Given the description of an element on the screen output the (x, y) to click on. 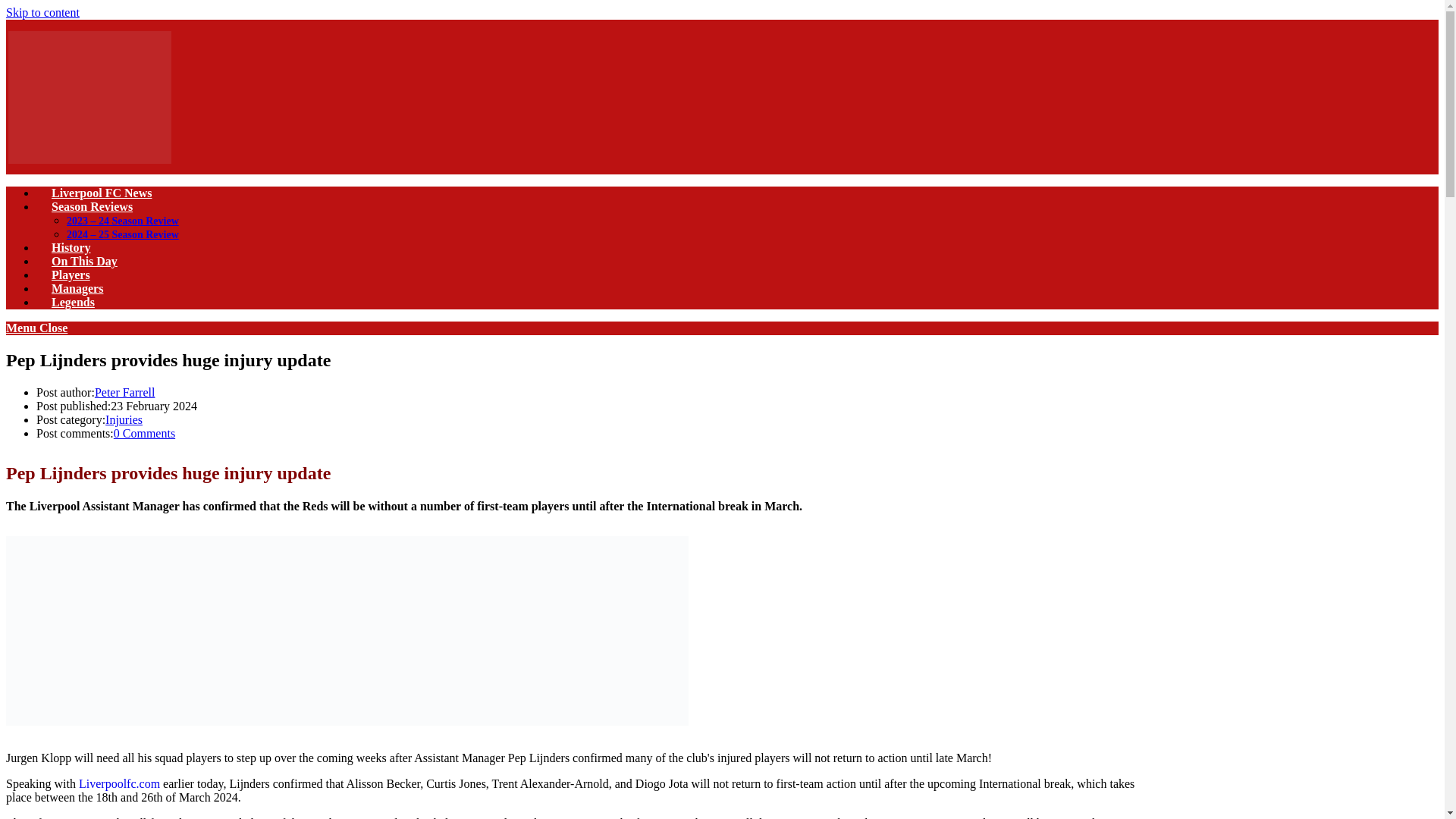
Season Reviews (92, 205)
Menu Close (35, 327)
Injuries (123, 419)
Skip to content (42, 11)
Liverpool FC News (101, 192)
On This Day (84, 260)
Players (70, 274)
Managers (76, 287)
Posts by Peter Farrell (124, 391)
Peter Farrell (124, 391)
